Given the description of an element on the screen output the (x, y) to click on. 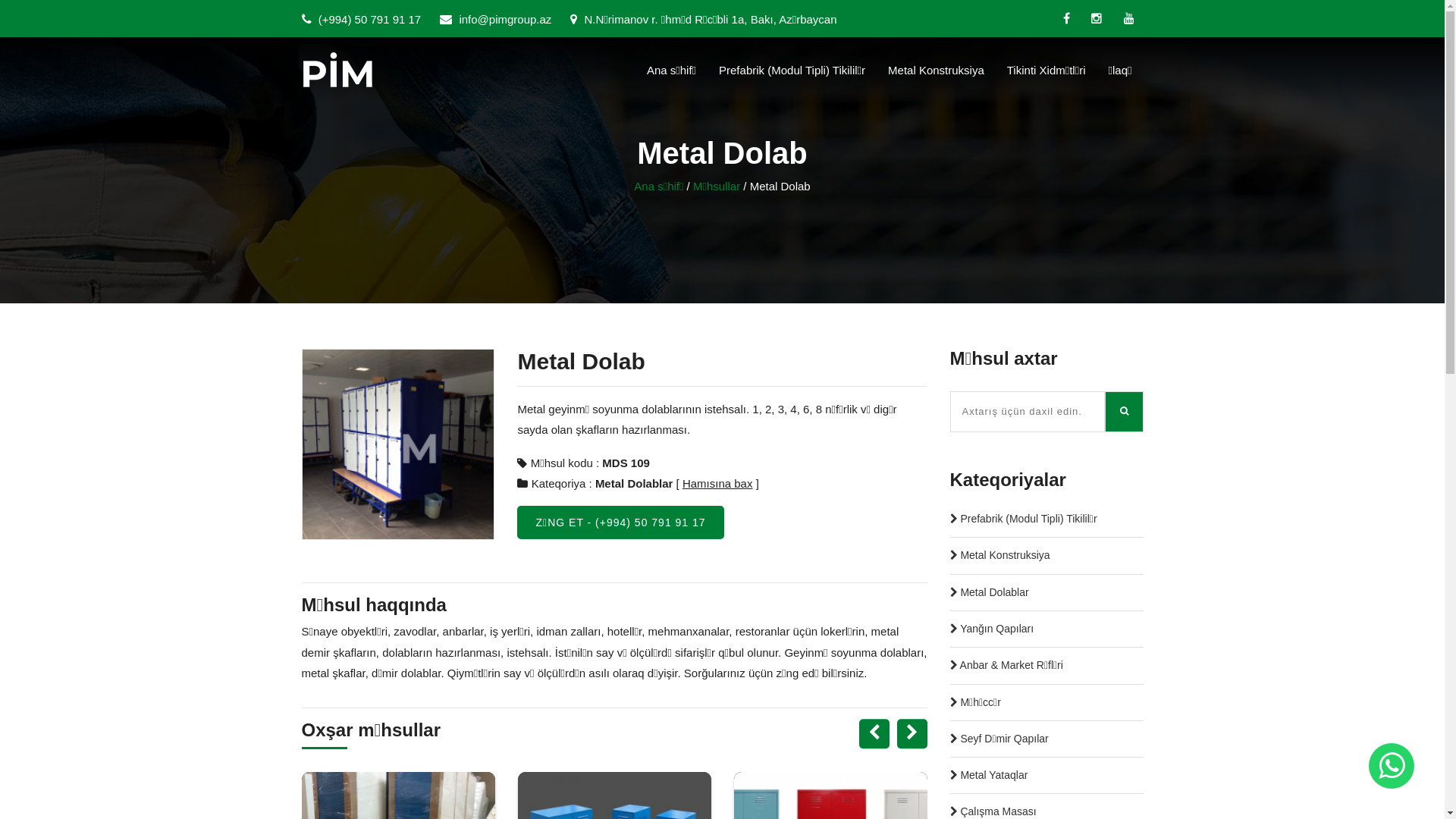
Metal Dolablar Element type: text (634, 482)
Metal Dolablar Element type: text (988, 592)
Metal Konstruksiya Element type: text (999, 555)
Metal Yataqlar Element type: text (988, 775)
Metal Konstruksiya Element type: text (935, 70)
(+994) 50 791 91 17 Element type: text (361, 18)
info@pimgroup.az Element type: text (495, 18)
